Given the description of an element on the screen output the (x, y) to click on. 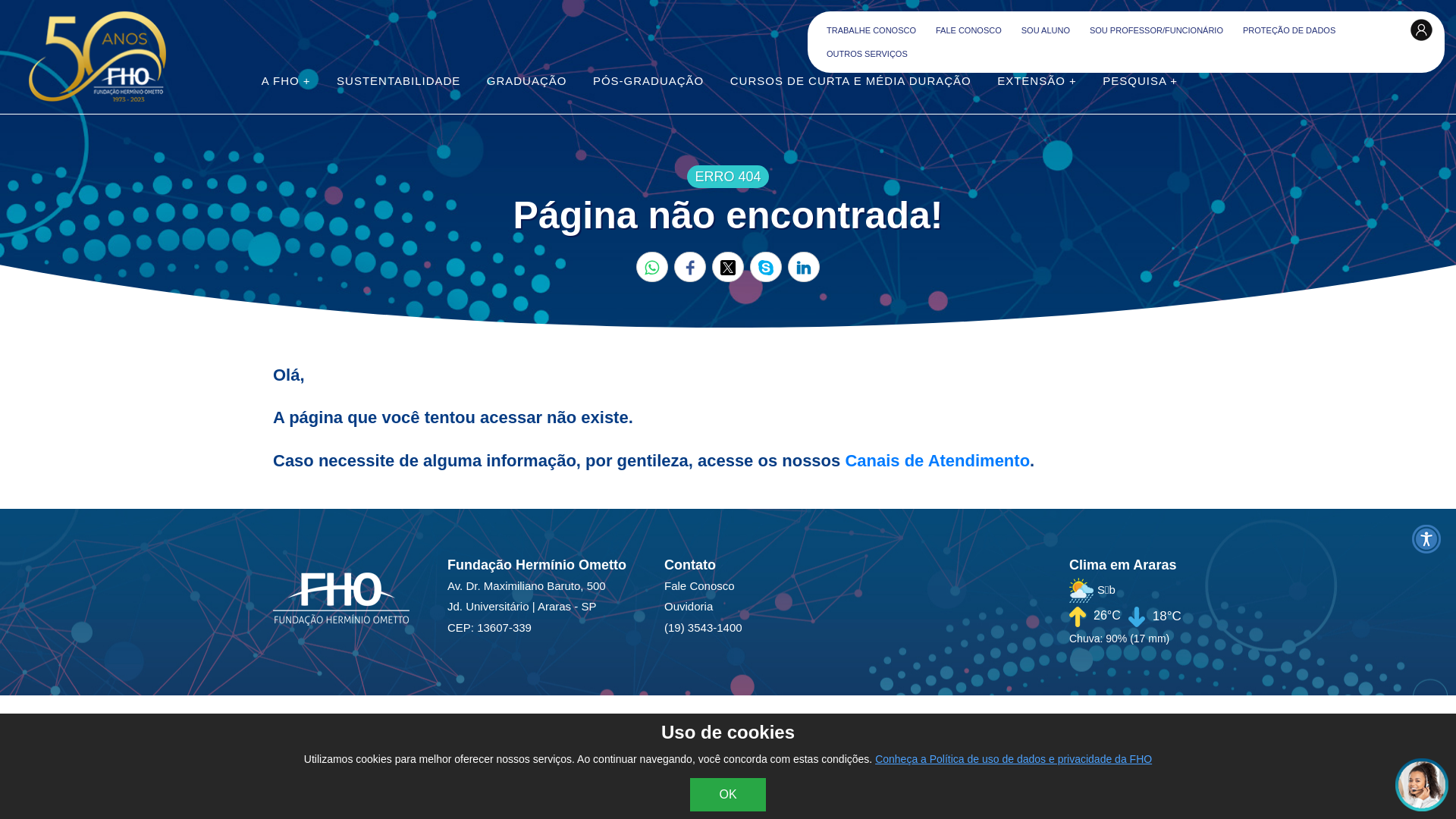
Ouvidoria Element type: text (705, 604)
A FHO + Element type: text (286, 81)
SUSTENTABILIDADE Element type: text (398, 81)
TRABALHE CONOSCO Element type: text (870, 30)
(19) 3543-1400 Element type: text (705, 626)
Canais de Atendimento Element type: text (936, 460)
PESQUISA + Element type: text (1140, 81)
FALE CONOSCO Element type: text (968, 30)
Uso de cookies Element type: text (727, 732)
Menu Acessibilidade Element type: hover (1426, 538)
SOU ALUNO Element type: text (1045, 30)
OK Element type: text (727, 794)
Fale Conosco Element type: text (705, 584)
